Given the description of an element on the screen output the (x, y) to click on. 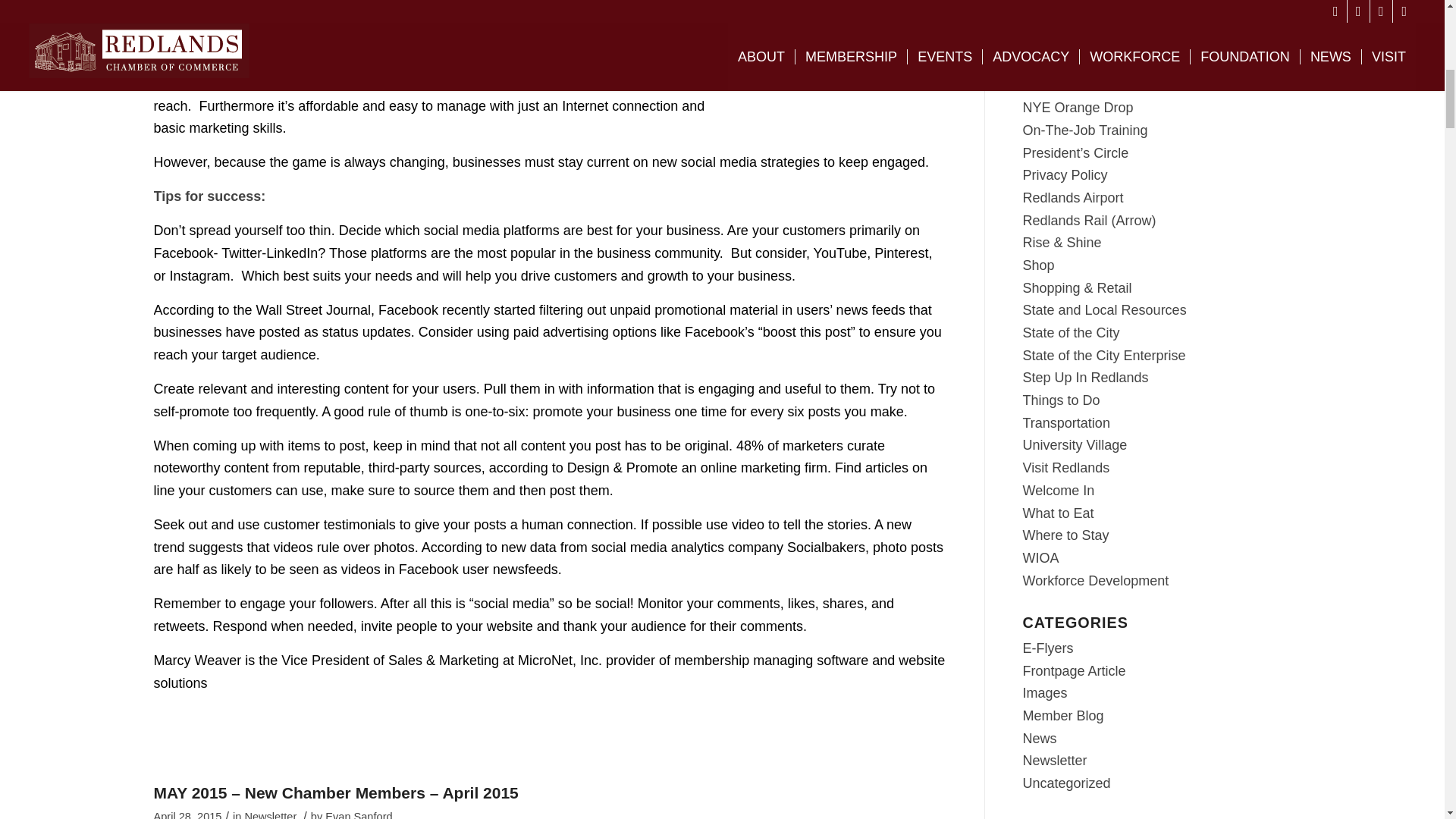
Posts by Evan Sanford (357, 814)
